Given the description of an element on the screen output the (x, y) to click on. 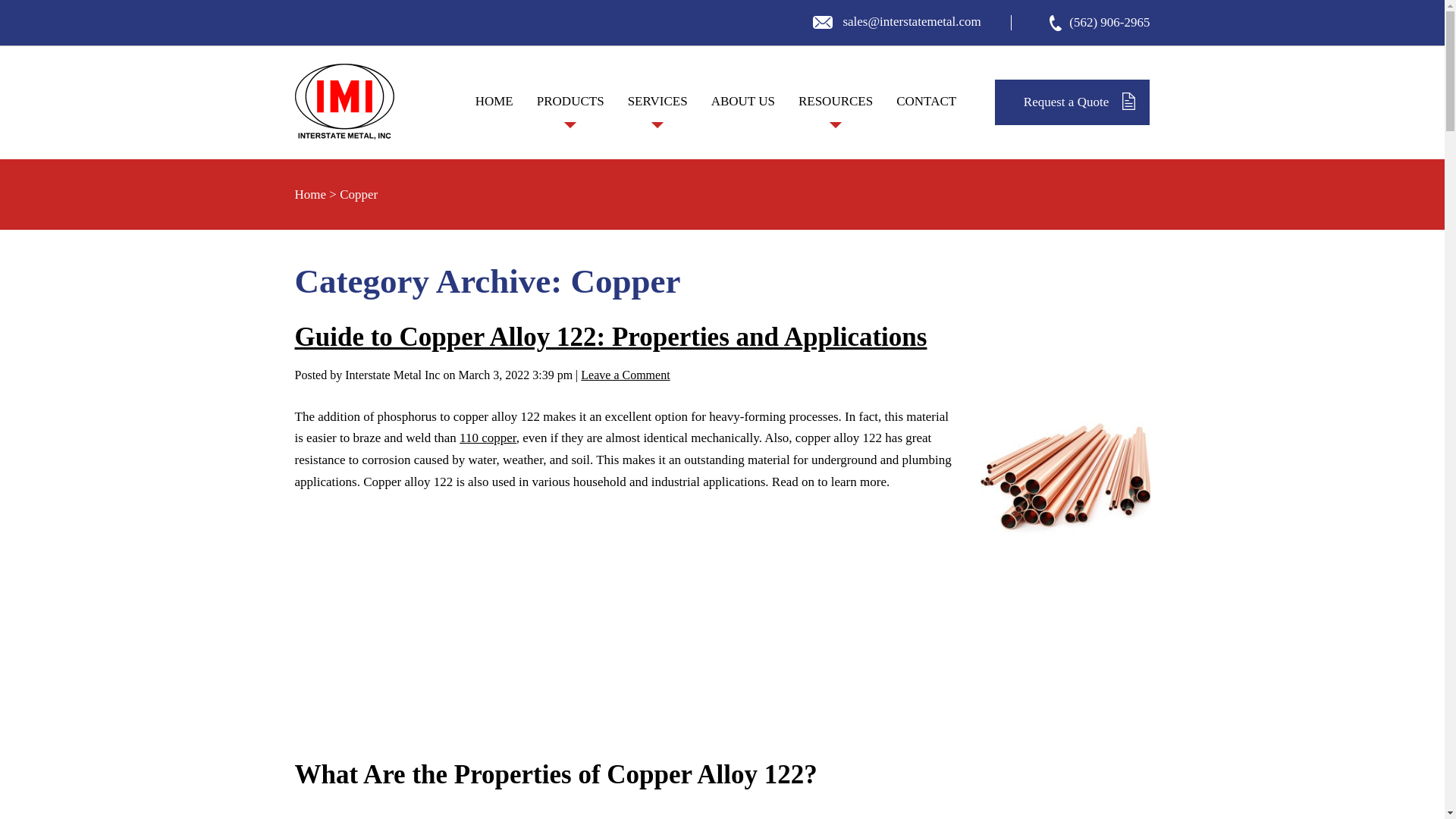
Home (310, 194)
ABOUT US (742, 101)
HOME (493, 101)
Guide to Copper Alloy 122: Properties and Applications (483, 621)
PRODUCTS (569, 118)
Interstate metal, inc (343, 101)
CONTACT (926, 101)
110 copper (488, 437)
Request a Quote (1072, 102)
